Given the description of an element on the screen output the (x, y) to click on. 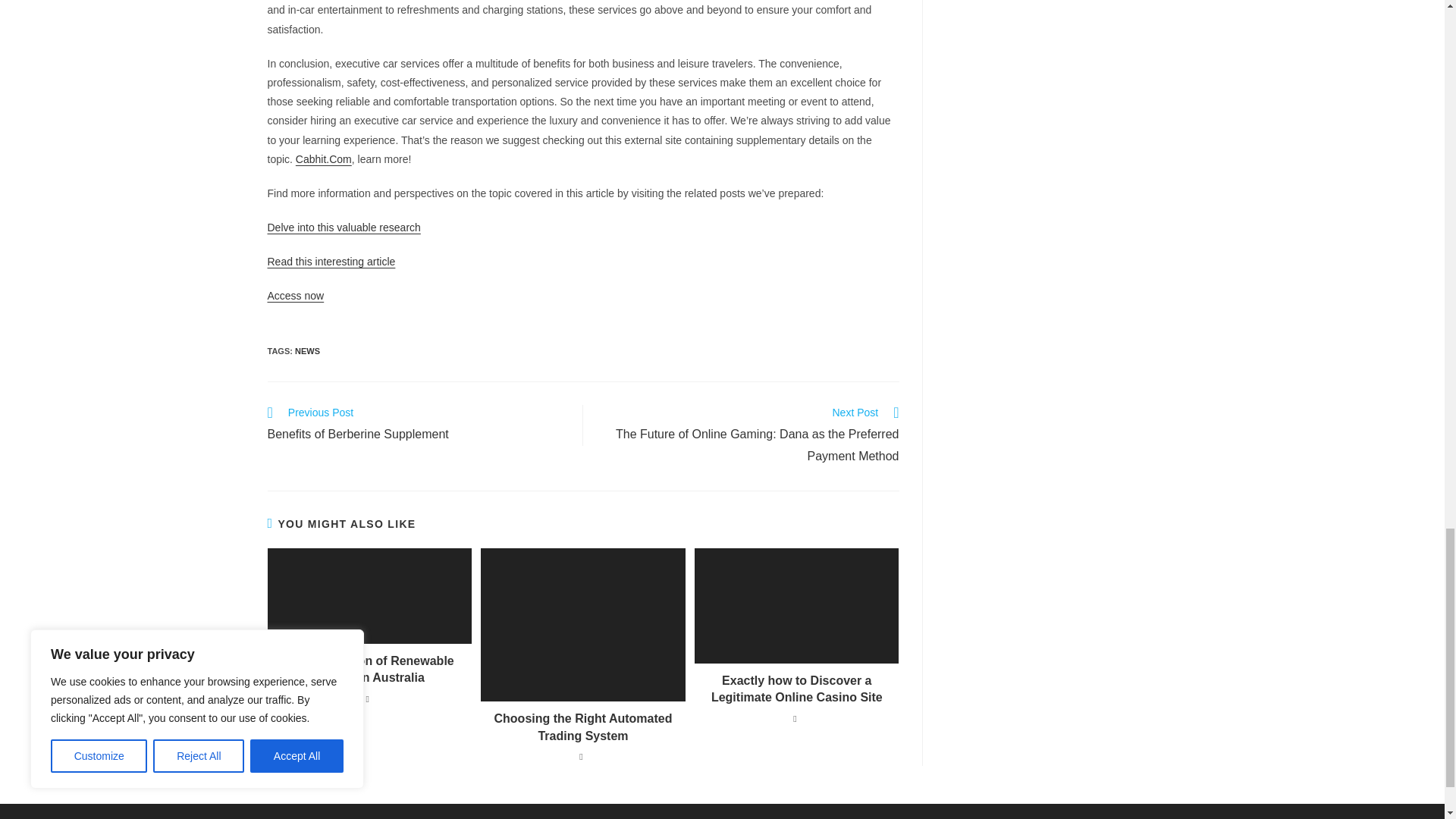
Delve into this valuable research (343, 227)
Cabhit.Com (416, 424)
NEWS (323, 159)
Read this interesting article (307, 350)
Access now (330, 261)
